Given the description of an element on the screen output the (x, y) to click on. 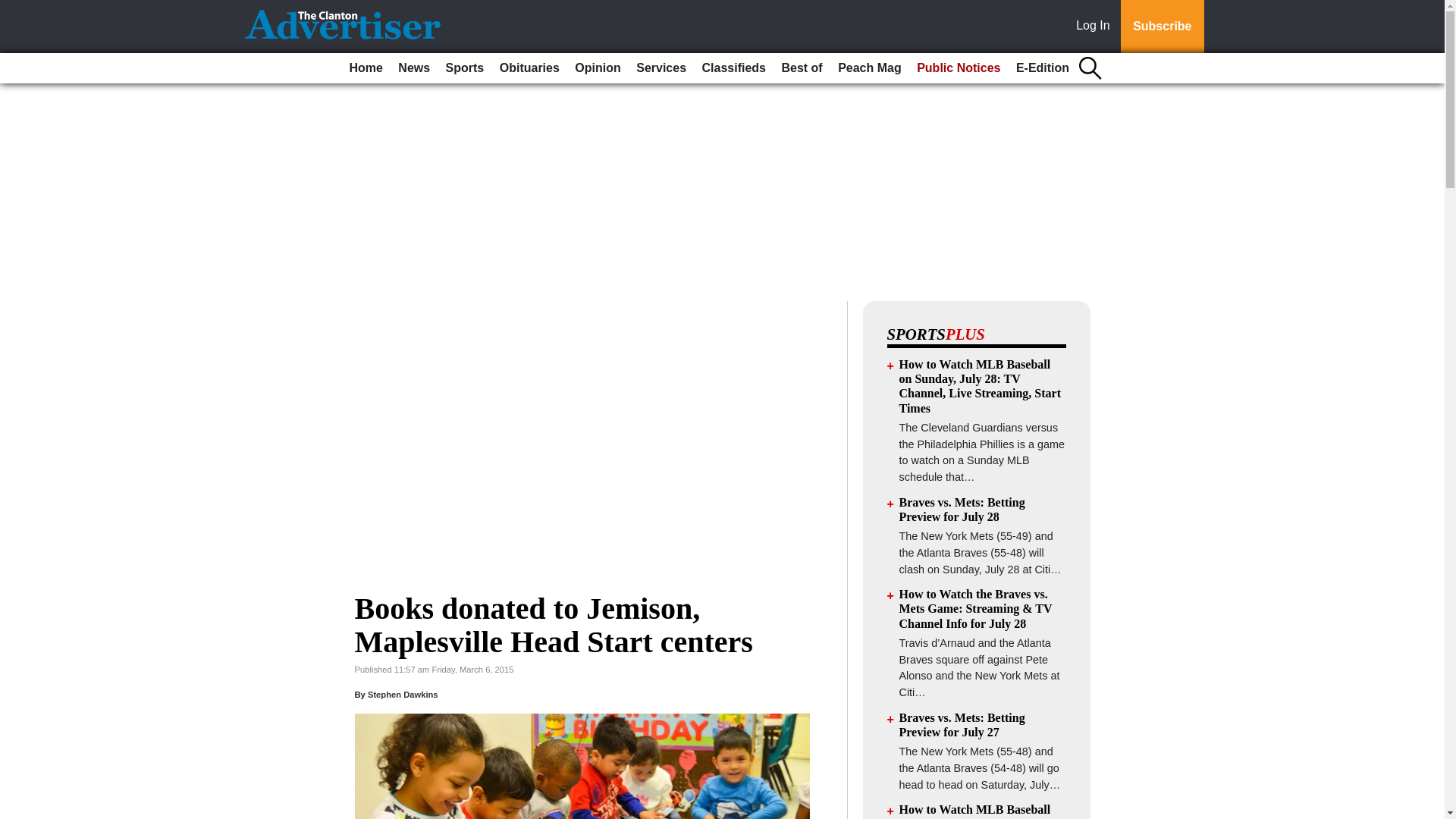
Services (661, 68)
E-Edition (1042, 68)
Best of (801, 68)
Go (13, 9)
News (413, 68)
Log In (1095, 26)
Stephen Dawkins (403, 694)
Subscribe (1162, 26)
Public Notices (958, 68)
Opinion (597, 68)
Peach Mag (869, 68)
Obituaries (529, 68)
Home (365, 68)
Classifieds (733, 68)
